Given the description of an element on the screen output the (x, y) to click on. 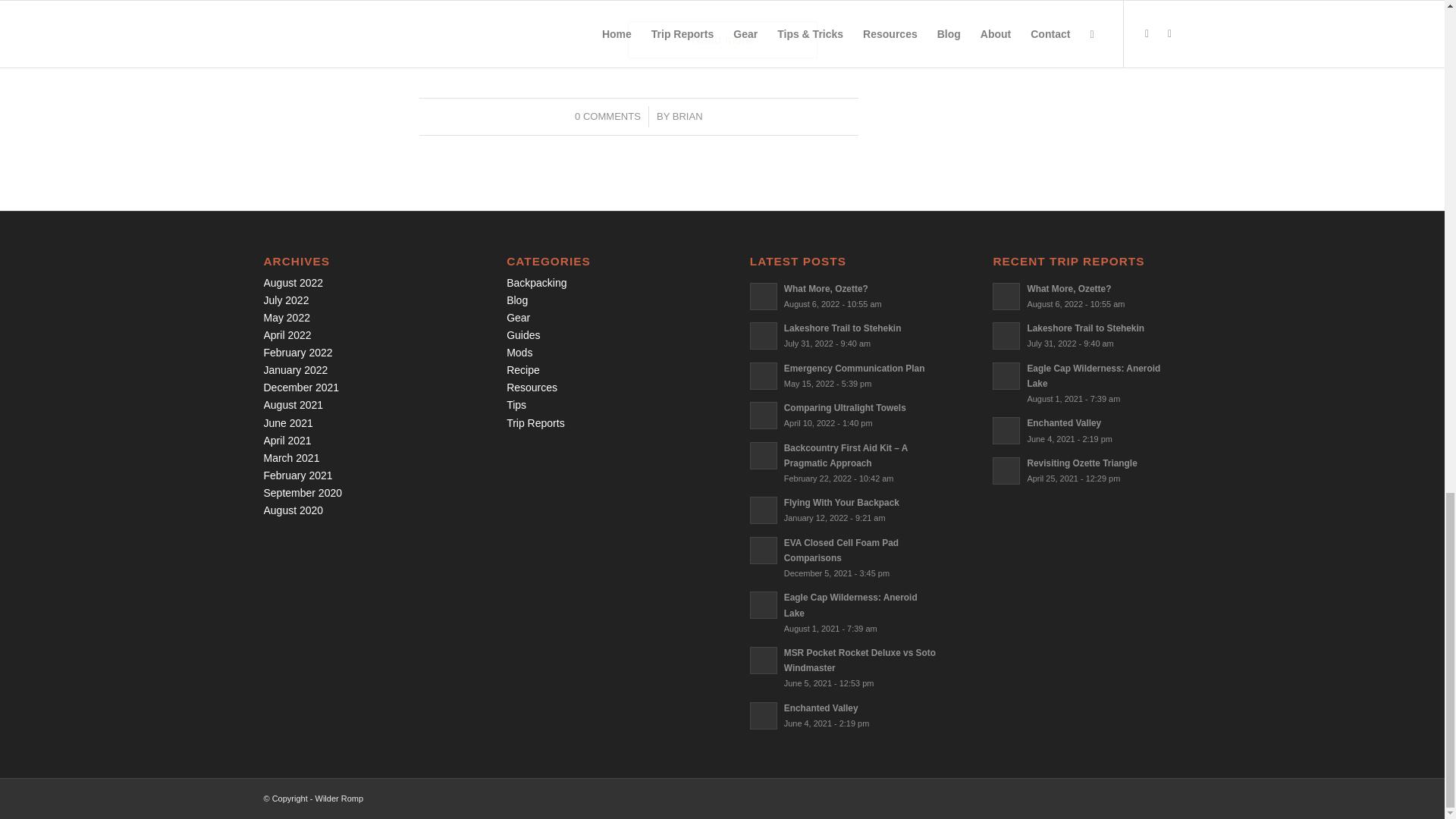
0 COMMENTS (607, 116)
Posts by Brian (687, 116)
Read more (721, 39)
August 2022 (293, 282)
BRIAN (687, 116)
